Given the description of an element on the screen output the (x, y) to click on. 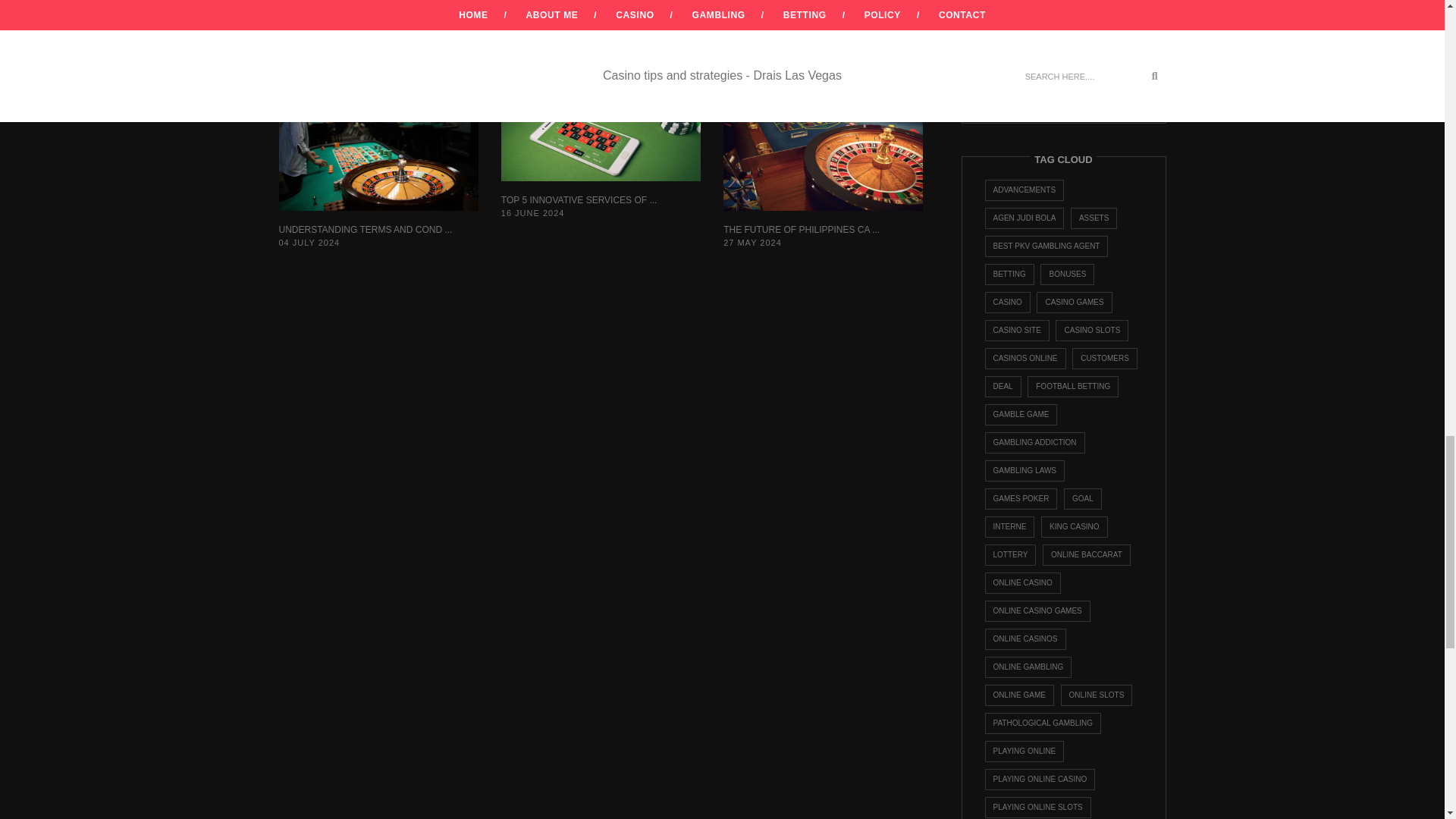
TOP 5 INNOVATIVE SERVICES OF ... (579, 199)
THE FUTURE OF PHILIPPINES CA ... (801, 229)
UNDERSTANDING TERMS AND COND ... (365, 229)
